Given the description of an element on the screen output the (x, y) to click on. 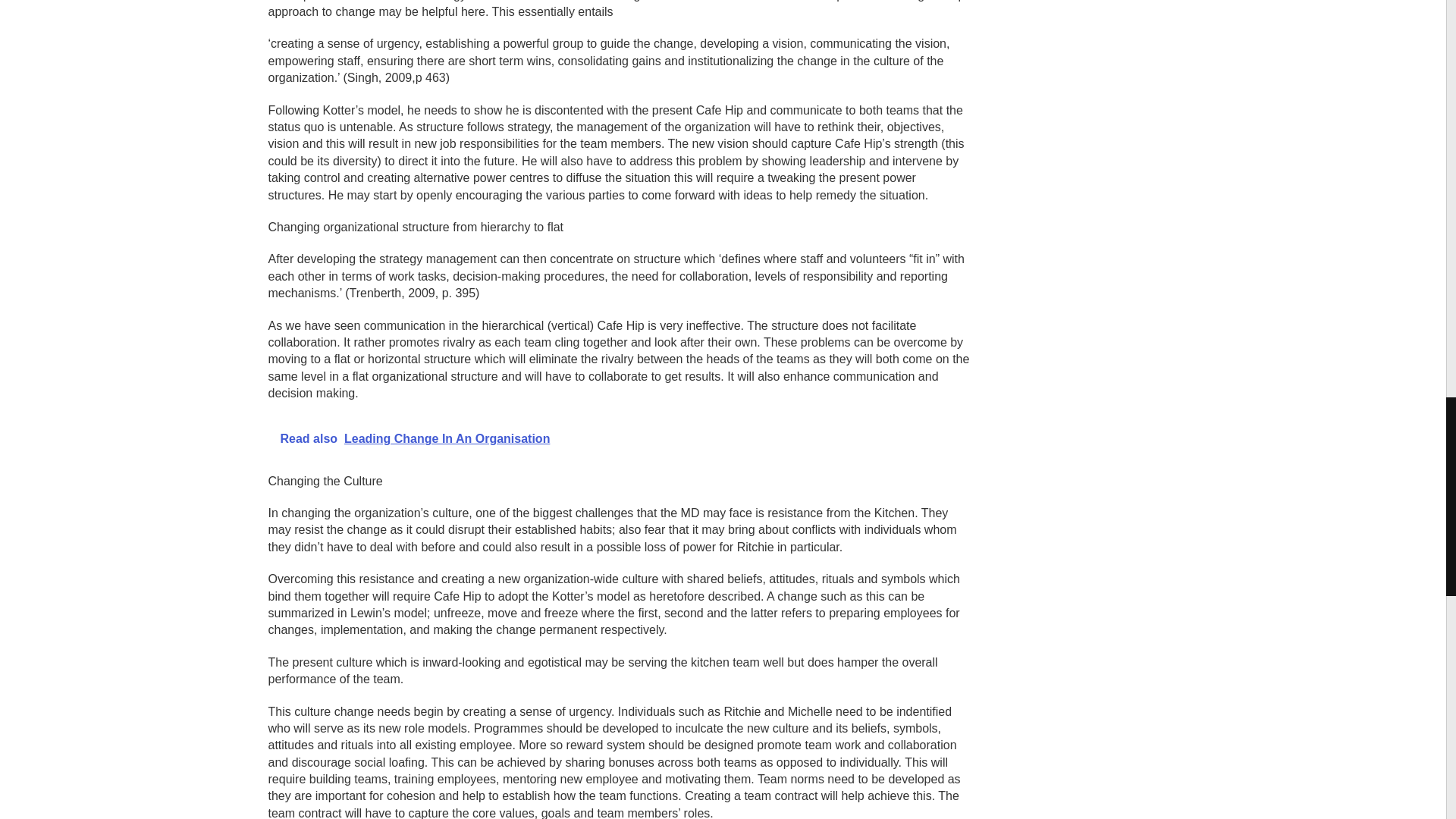
Read also  Leading Change In An Organisation (620, 438)
